Given the description of an element on the screen output the (x, y) to click on. 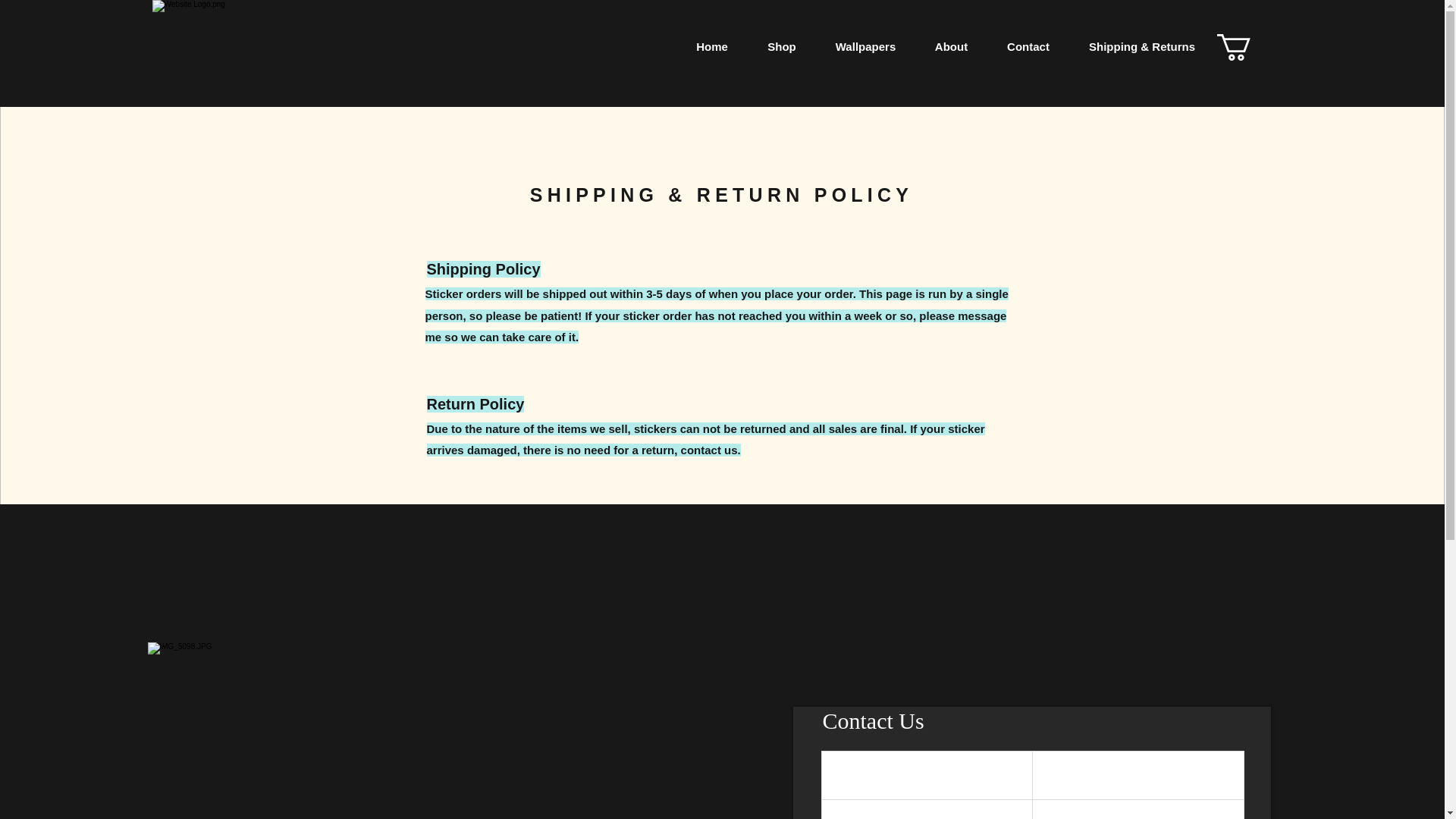
About (950, 46)
Wallpapers (865, 46)
Home (711, 46)
Contact (1027, 46)
Shop (781, 46)
